Given the description of an element on the screen output the (x, y) to click on. 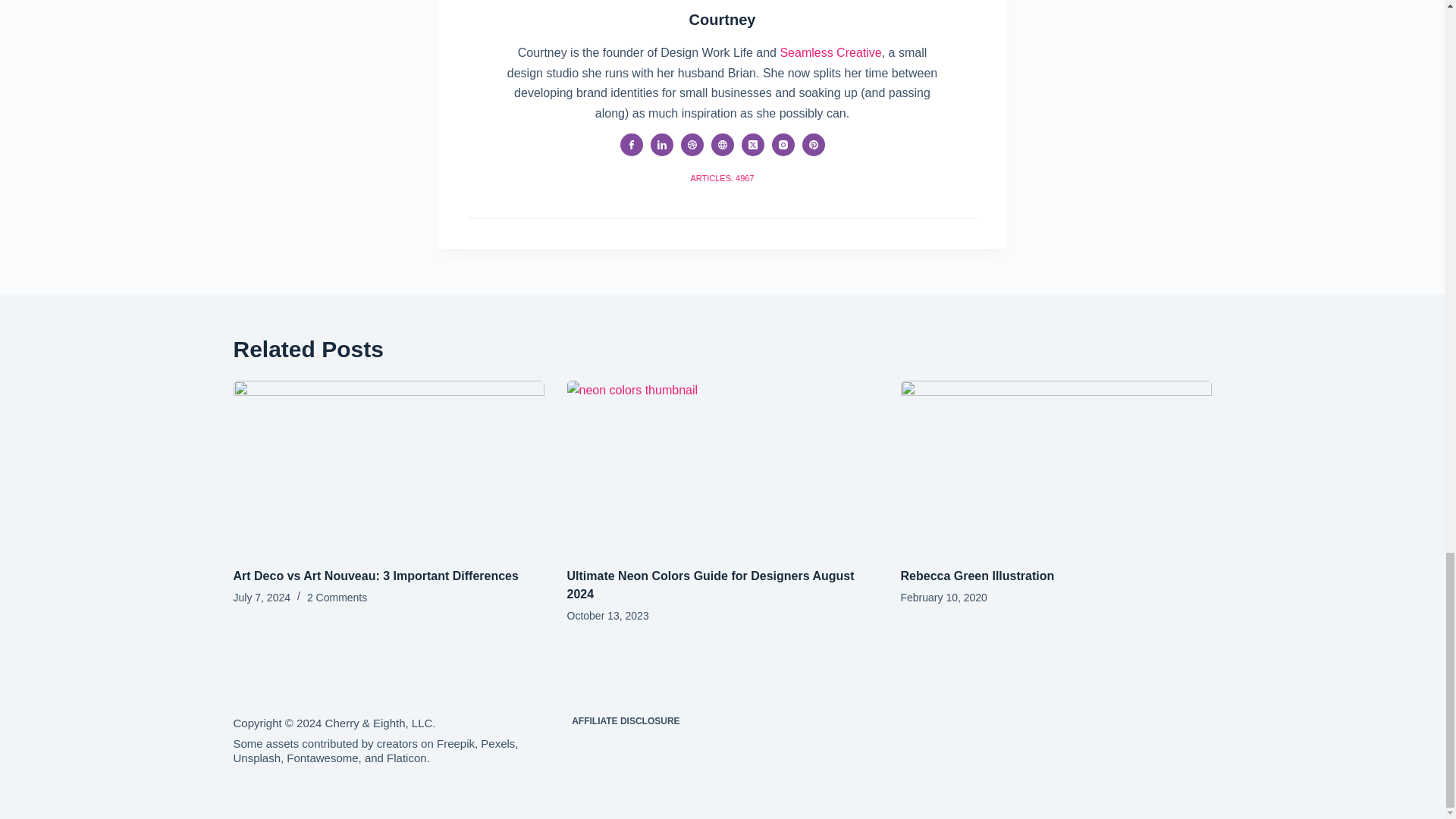
Art Deco vs Art Nouveau: 3 Important Differences (375, 575)
Seamless Creative (829, 51)
ARTICLES: 4967 (722, 178)
